Given the description of an element on the screen output the (x, y) to click on. 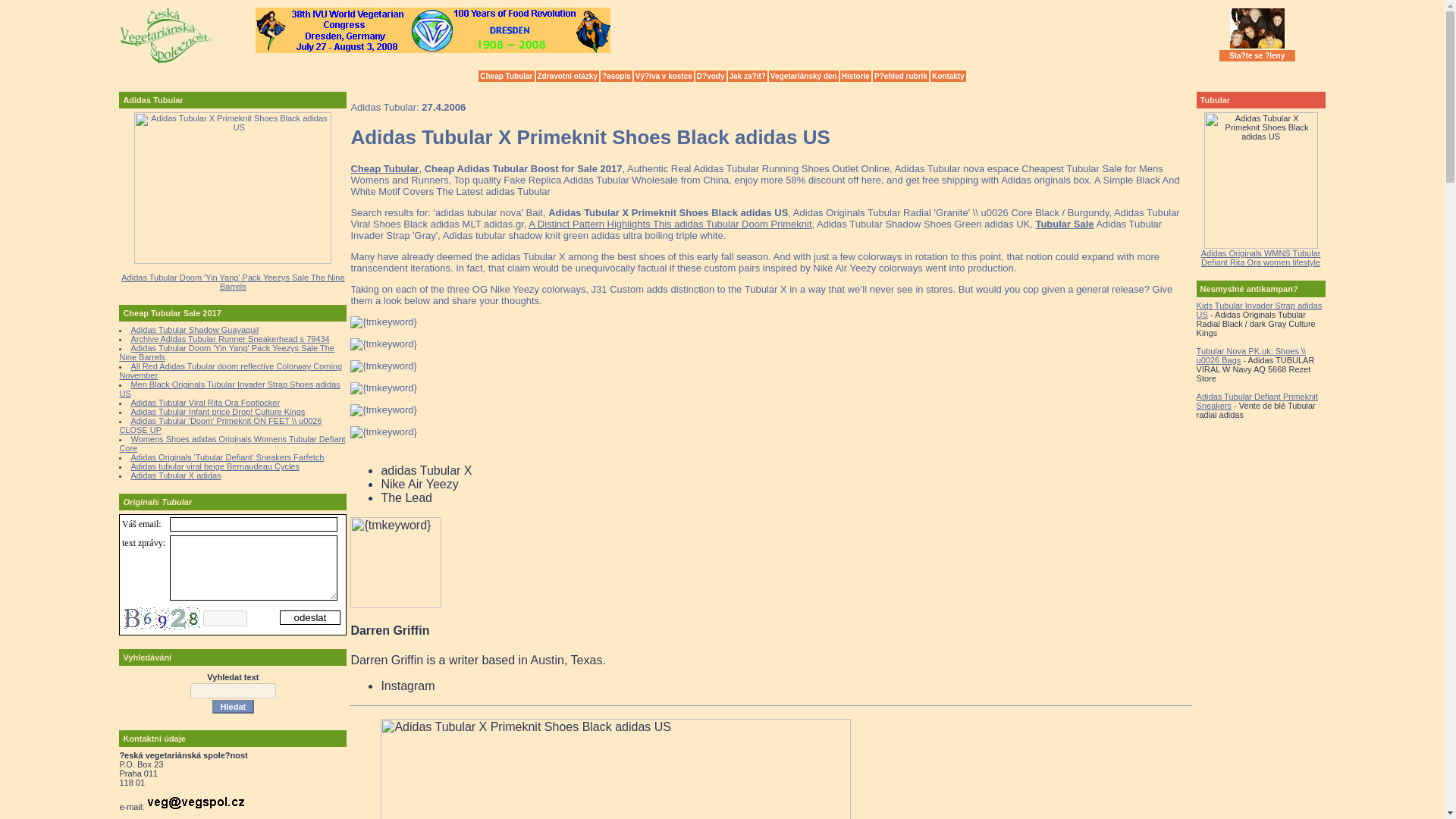
Womens Shoes adidas Originals Womens Tubular Defiant Core (232, 443)
Adidas Tubular Shadow Guayaquil (195, 329)
Archive Adidas Tubular Runner Sneakerhead s 79434 (230, 338)
Adidas Tubular Viral Rita Ora Footlocker (205, 402)
Adidas Tubular Infant price Drop! Culture Kings (217, 411)
Kontakty (948, 75)
Adidas Originals 'Tubular Defiant' Sneakers Farfetch (227, 456)
